Given the description of an element on the screen output the (x, y) to click on. 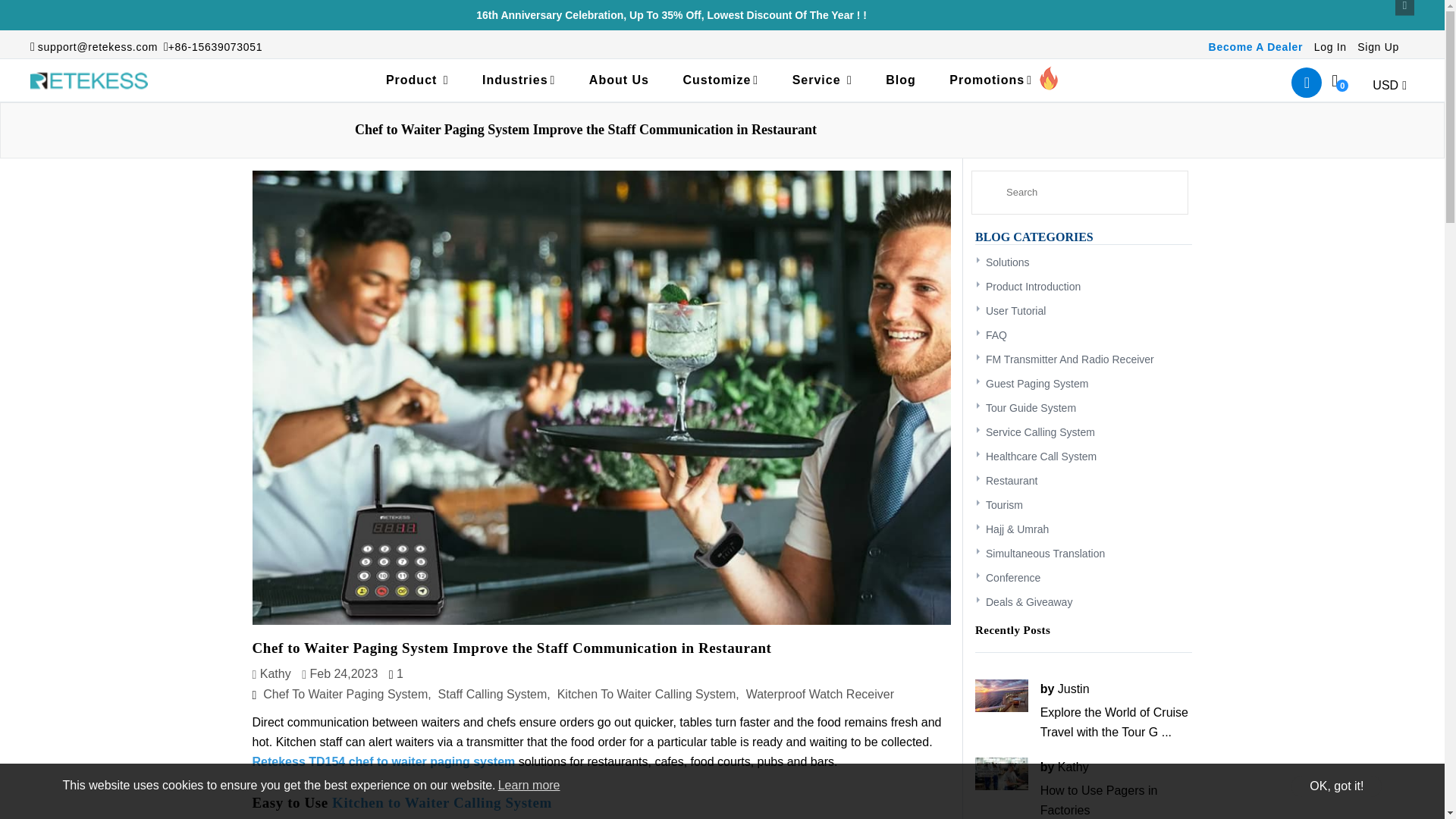
Retekess TD154 chef to waiter paging system (383, 761)
Service (822, 80)
Log In (1330, 46)
Kitchen to Waiter Calling System (441, 802)
BLOG (900, 80)
Become A Dealer (1255, 46)
Sign Up (1377, 46)
About Us (618, 80)
Product (417, 80)
Promotions (1004, 80)
Retekess (89, 79)
